Given the description of an element on the screen output the (x, y) to click on. 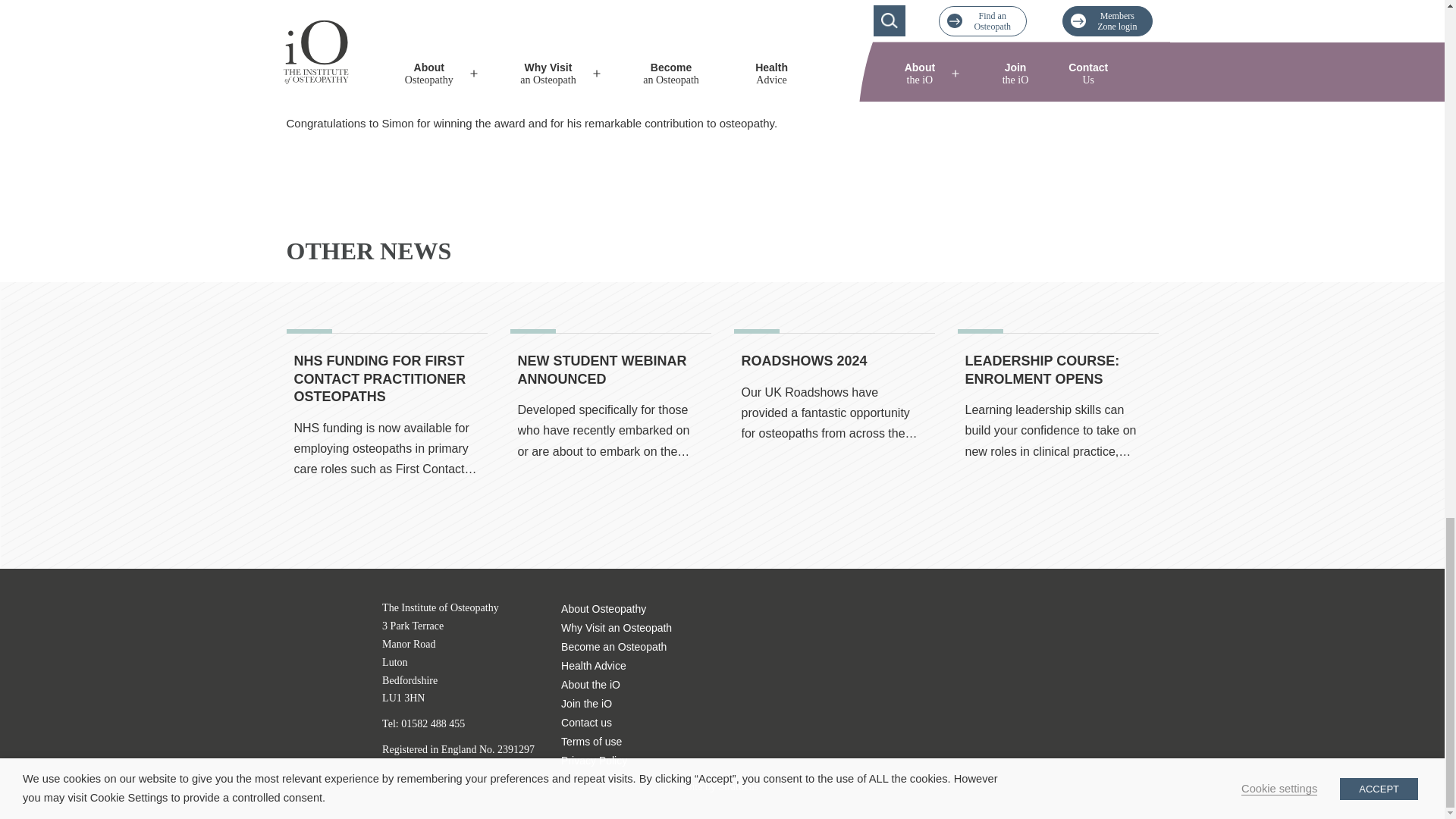
Roadshows 2024 (804, 360)
NHS funding for First Contact Practitioner Osteopaths (386, 445)
Roadshows 2024 (833, 445)
NHS funding for First Contact Practitioner Osteopaths (379, 378)
NEW Student webinar announced (609, 445)
Leadership course: Enrolment opens (1041, 368)
NEW Student webinar announced (600, 368)
Leadership course: Enrolment opens (1056, 445)
